Given the description of an element on the screen output the (x, y) to click on. 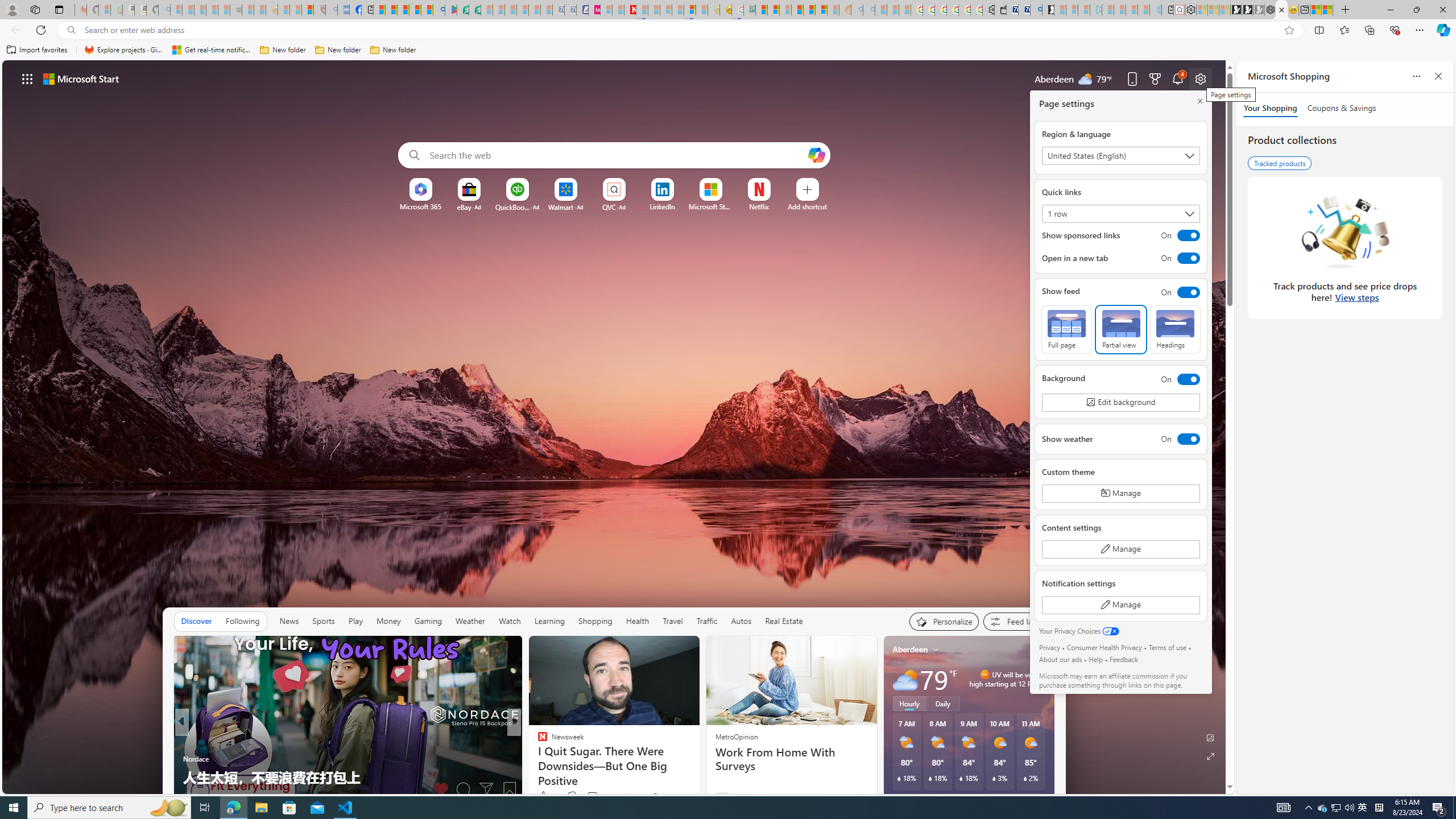
Health (637, 621)
Your Privacy Choices (1079, 631)
Bing Real Estate - Home sales and rental listings (1035, 9)
Page settings (1200, 78)
Traffic (706, 621)
View comments 48 Comment (592, 797)
Sports (323, 621)
Show weather On (1120, 438)
